Given the description of an element on the screen output the (x, y) to click on. 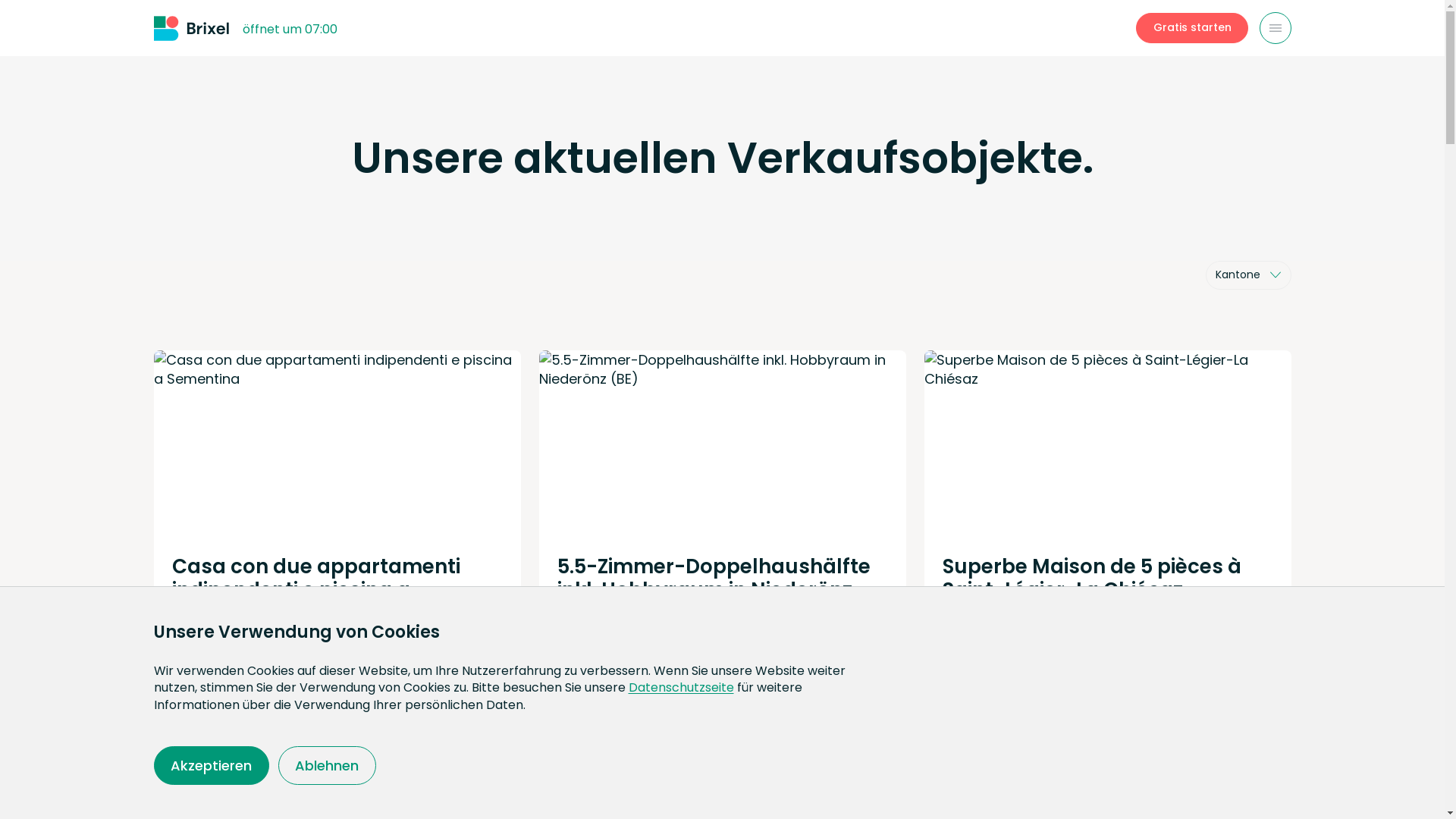
Ablehnen Element type: text (327, 765)
Gratis starten Element type: text (1191, 27)
Akzeptieren Element type: text (210, 765)
Kantone Element type: text (1248, 274)
Datenschutzseite Element type: text (680, 687)
